Given the description of an element on the screen output the (x, y) to click on. 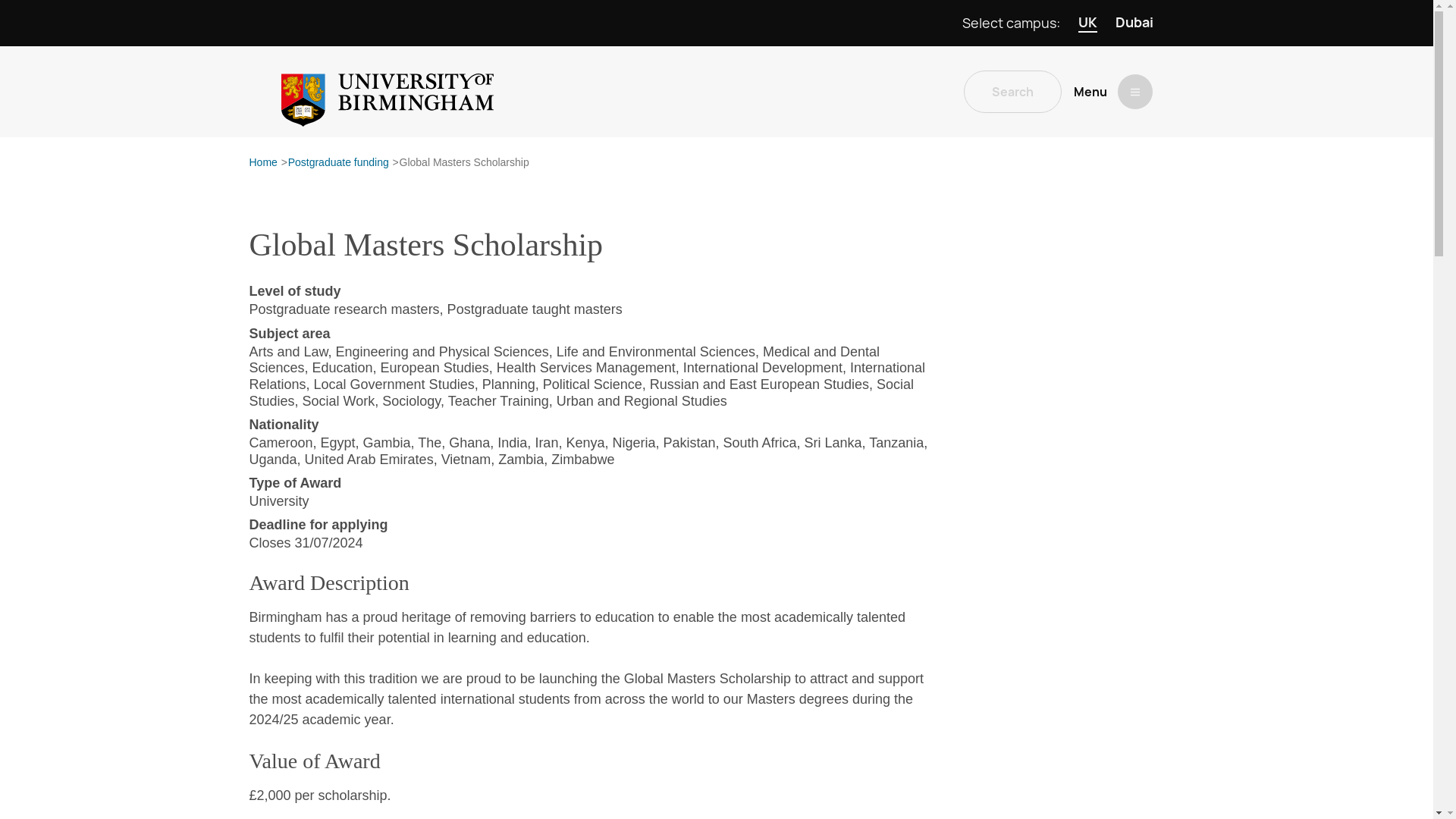
Dubai (1134, 23)
Postgraduate funding (338, 163)
Search (1012, 91)
Global Masters Scholarship (463, 163)
UK (1087, 23)
Home (262, 163)
